Given the description of an element on the screen output the (x, y) to click on. 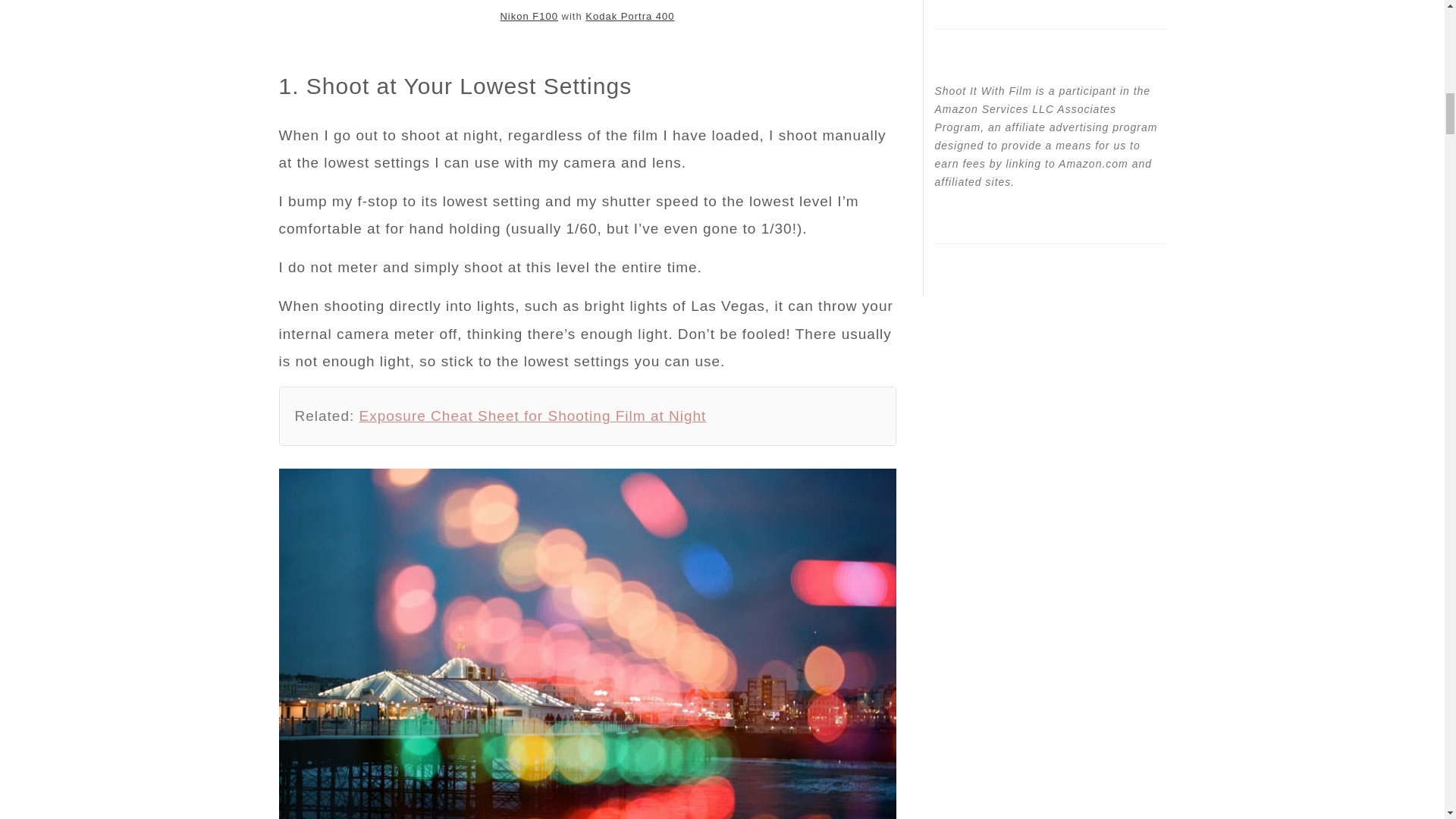
Kodak Portra 400 (629, 16)
Nikon F100 (528, 16)
Exposure Cheat Sheet for Shooting Film at Night (532, 415)
